Given the description of an element on the screen output the (x, y) to click on. 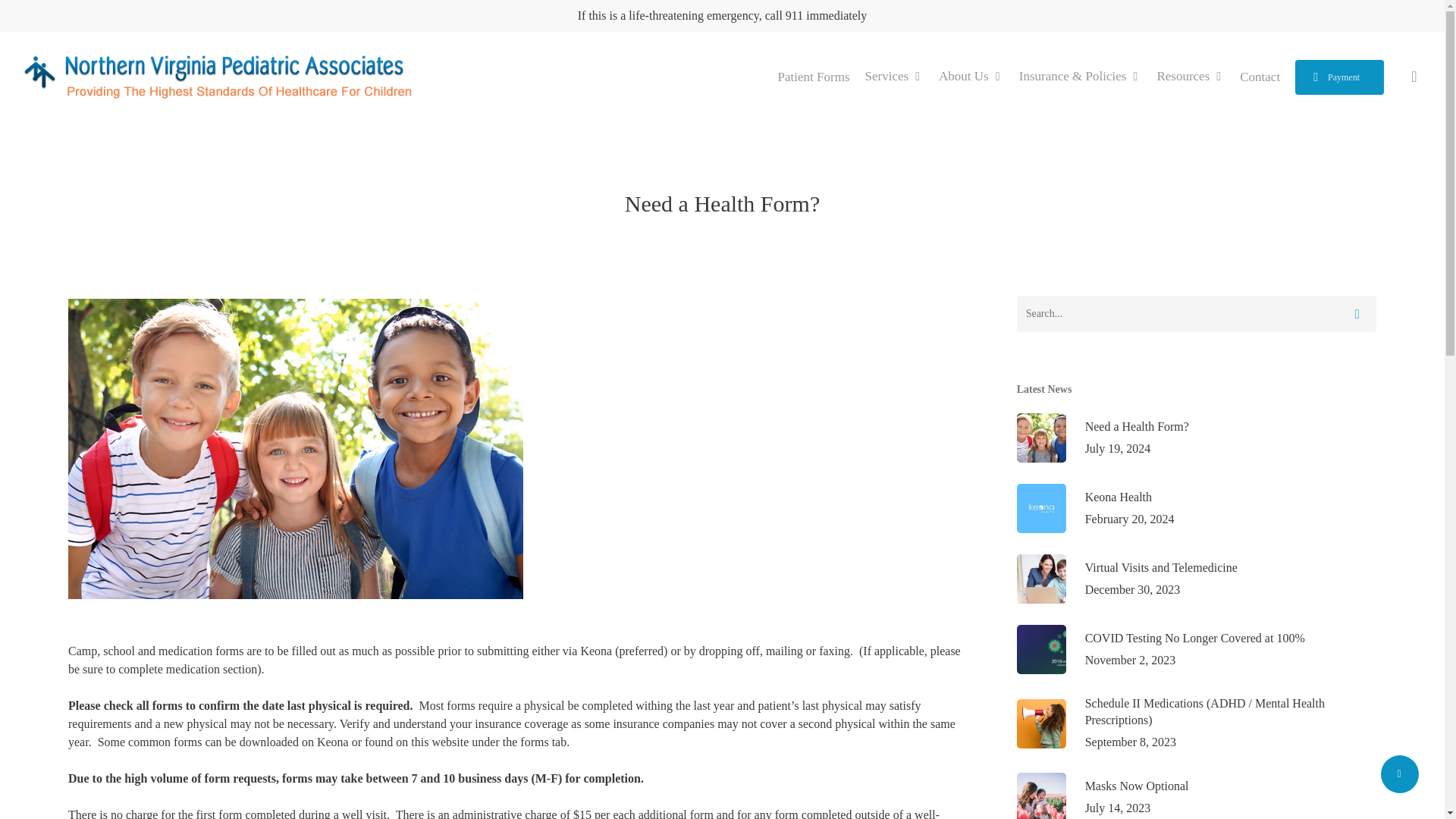
search (1414, 76)
Contact (1195, 437)
Payment (1259, 76)
About Us (1339, 76)
Resources (971, 76)
Patient Forms (1195, 508)
Search for: (1190, 76)
